Given the description of an element on the screen output the (x, y) to click on. 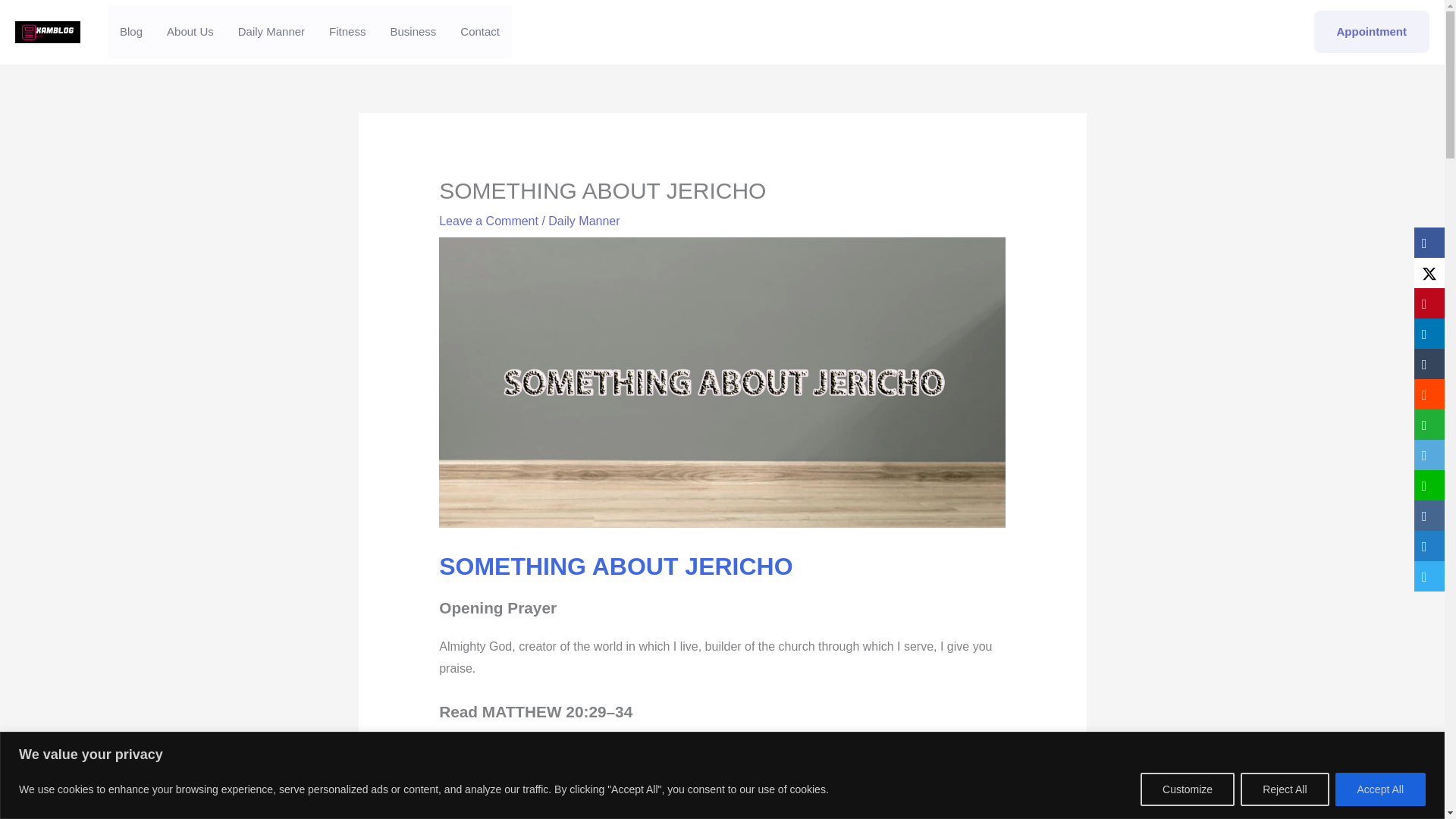
Contact (480, 31)
Fitness (347, 31)
Reject All (1283, 788)
Customize (1187, 788)
Leave a Comment (488, 220)
Appointment (1371, 31)
SOMETHING ABOUT JERICHO (615, 565)
Business (412, 31)
Daily Manner (584, 220)
Accept All (1380, 788)
Daily Manner (271, 31)
About Us (189, 31)
